Given the description of an element on the screen output the (x, y) to click on. 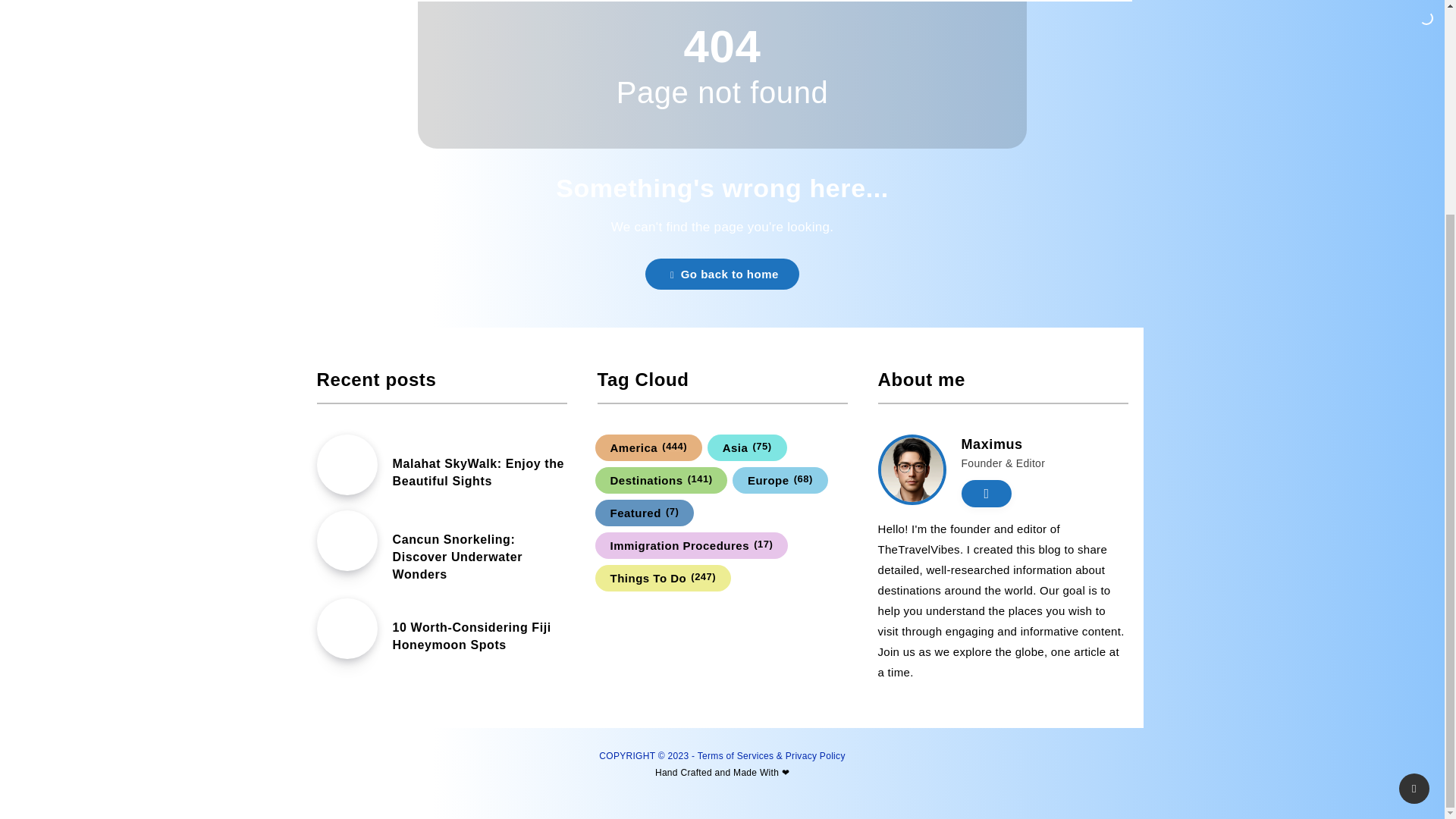
Cancun Snorkeling: Discover Underwater Wonders (457, 558)
Malahat SkyWalk: Enjoy the Beautiful Sights (478, 474)
Maximus (991, 445)
10 Worth-Considering Fiji Honeymoon Spots (472, 637)
 Go back to home (722, 273)
